Given the description of an element on the screen output the (x, y) to click on. 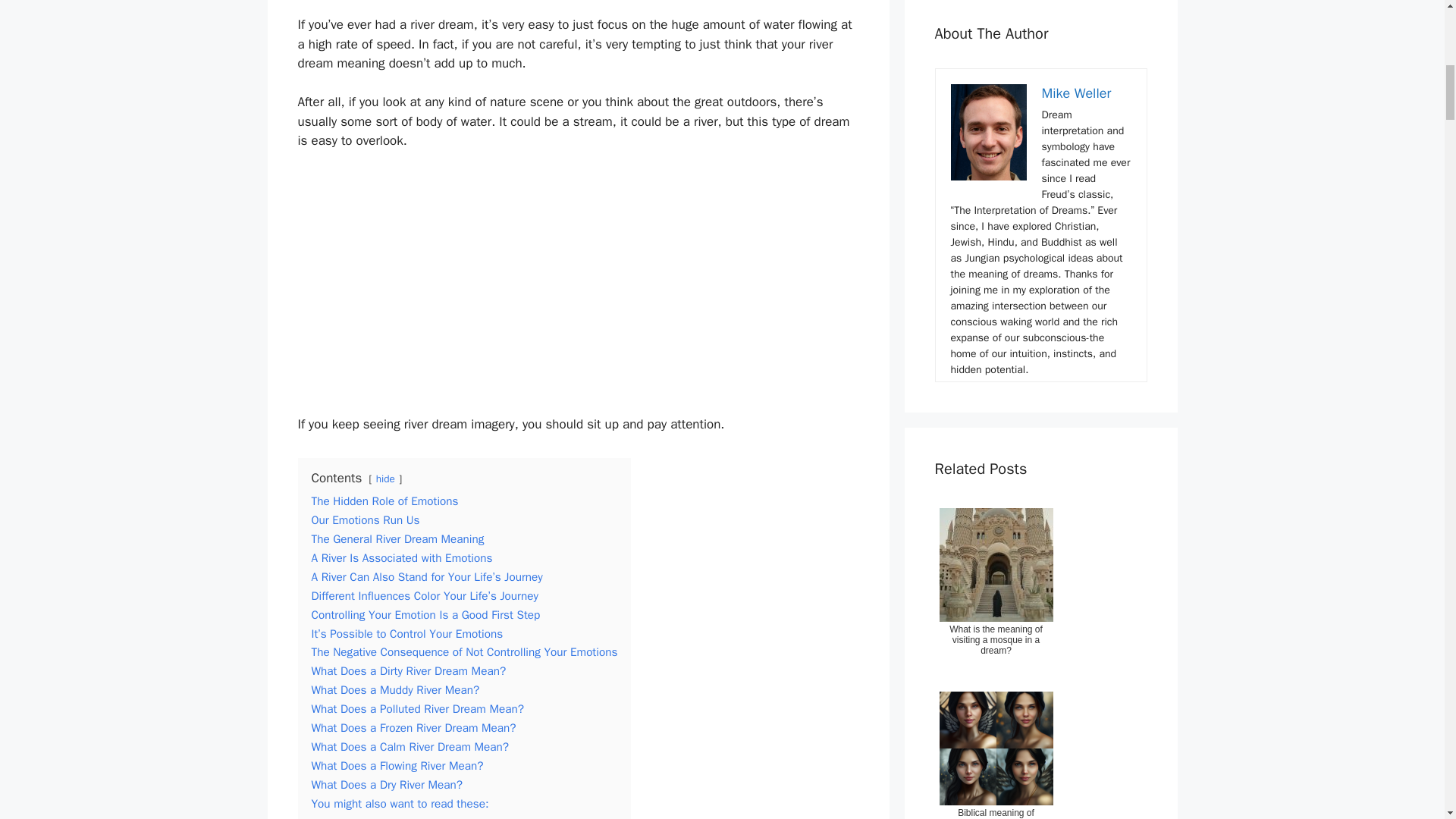
What Does a Flowing River Mean? (397, 765)
Controlling Your Emotion Is a Good First Step (425, 614)
hide (384, 478)
The Negative Consequence of Not Controlling Your Emotions (464, 652)
A River Is Associated with Emotions (401, 557)
What Does a Muddy River Mean? (395, 689)
What Does a Dry River Mean? (387, 784)
Our Emotions Run Us (365, 519)
You might also want to read these: (399, 803)
What Does a Dirty River Dream Mean? (408, 670)
What Does a Polluted River Dream Mean? (416, 708)
What Does a Calm River Dream Mean? (409, 746)
The Hidden Role of Emotions (384, 500)
The General River Dream Meaning (397, 539)
YouTube video player (577, 288)
